Given the description of an element on the screen output the (x, y) to click on. 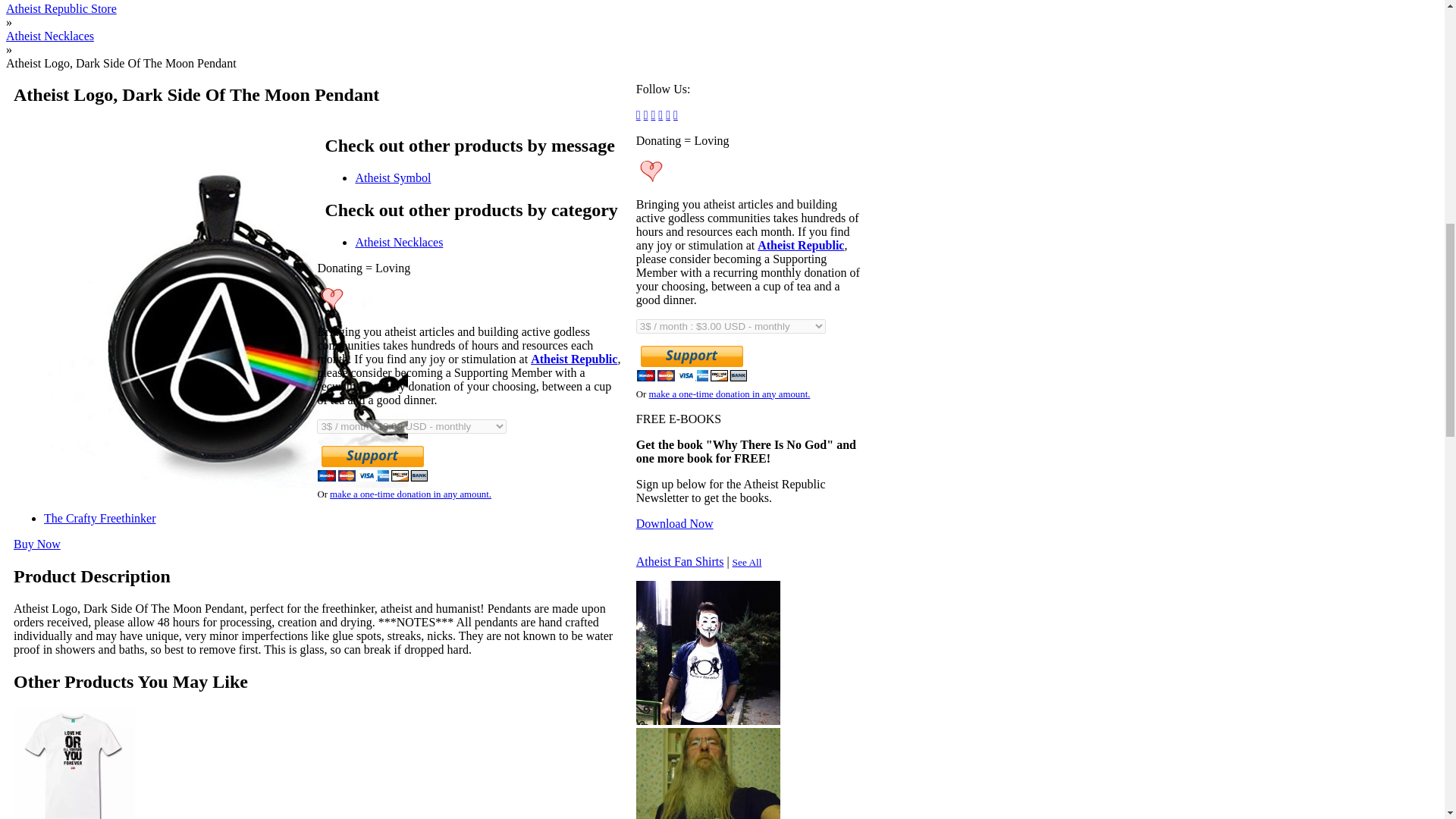
View the Product (37, 543)
Atheist Republic Store (60, 7)
